Given the description of an element on the screen output the (x, y) to click on. 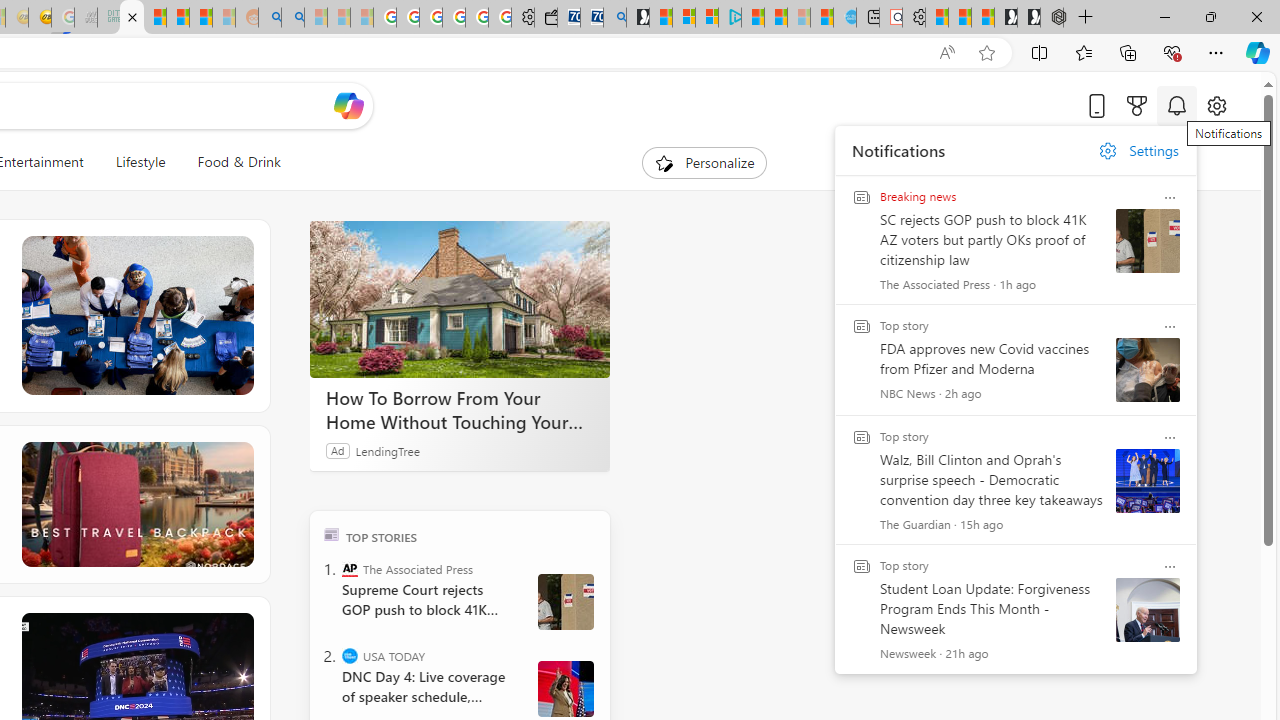
Food & Drink (239, 162)
Utah sues federal government - Search (292, 17)
Lifestyle (140, 162)
